Given the description of an element on the screen output the (x, y) to click on. 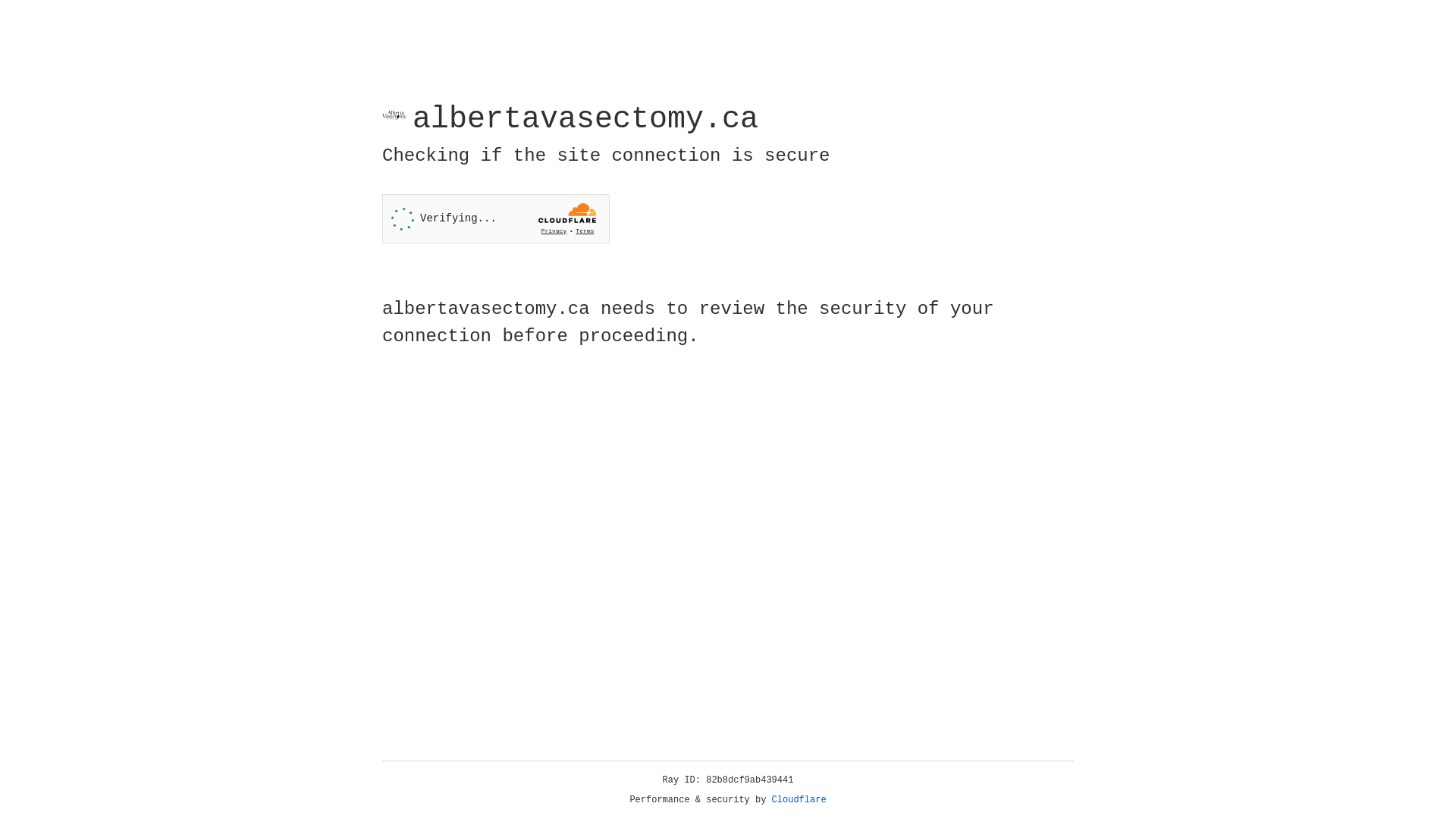
Cloudflare Element type: text (798, 799)
Widget containing a Cloudflare security challenge Element type: hover (495, 218)
